Given the description of an element on the screen output the (x, y) to click on. 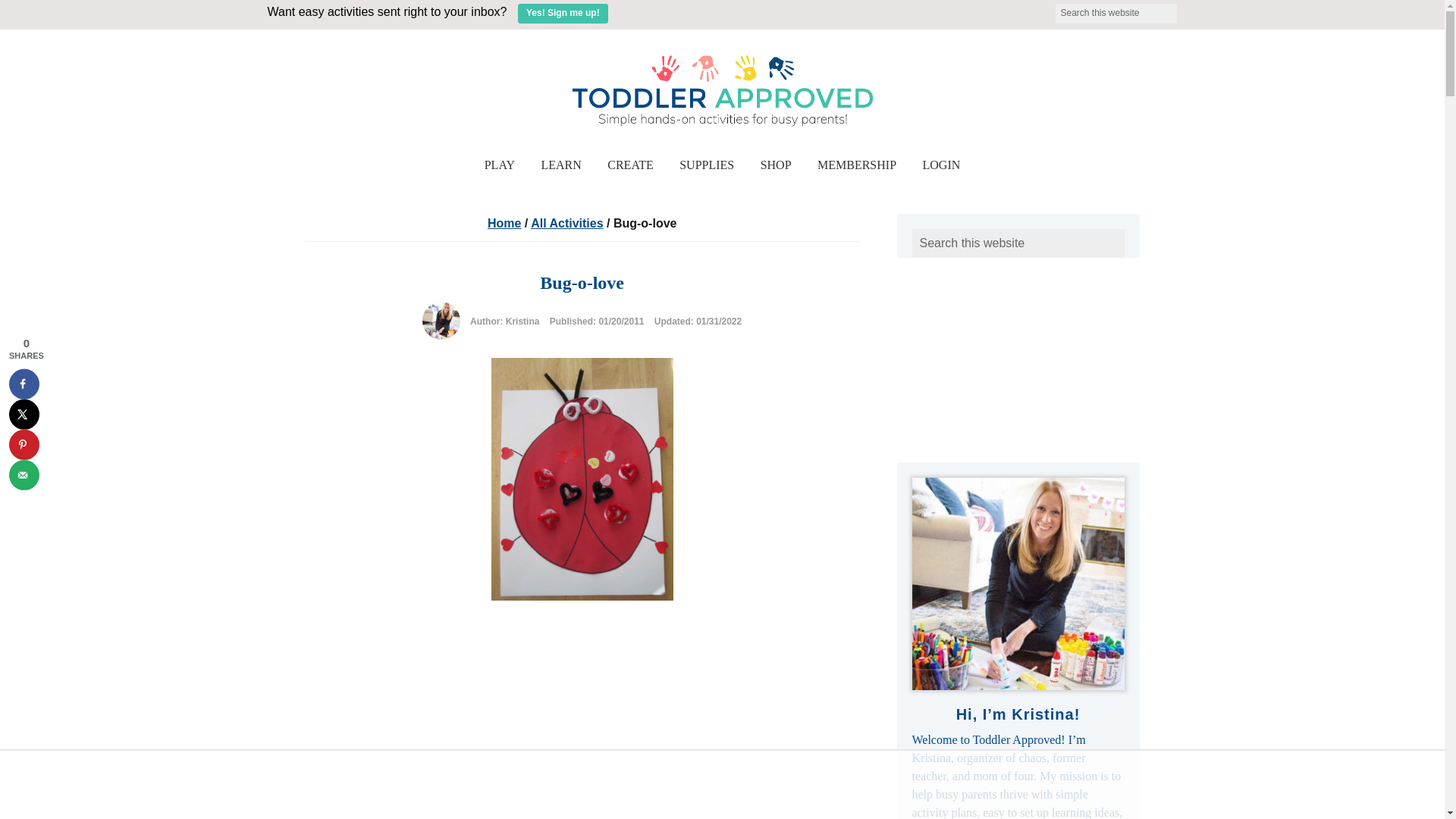
Share on X (23, 413)
Send over email (23, 474)
Yes! Sign me up! (563, 13)
Save to Pinterest (23, 444)
Search (1185, 8)
Search (1185, 8)
Search (1185, 8)
